Given the description of an element on the screen output the (x, y) to click on. 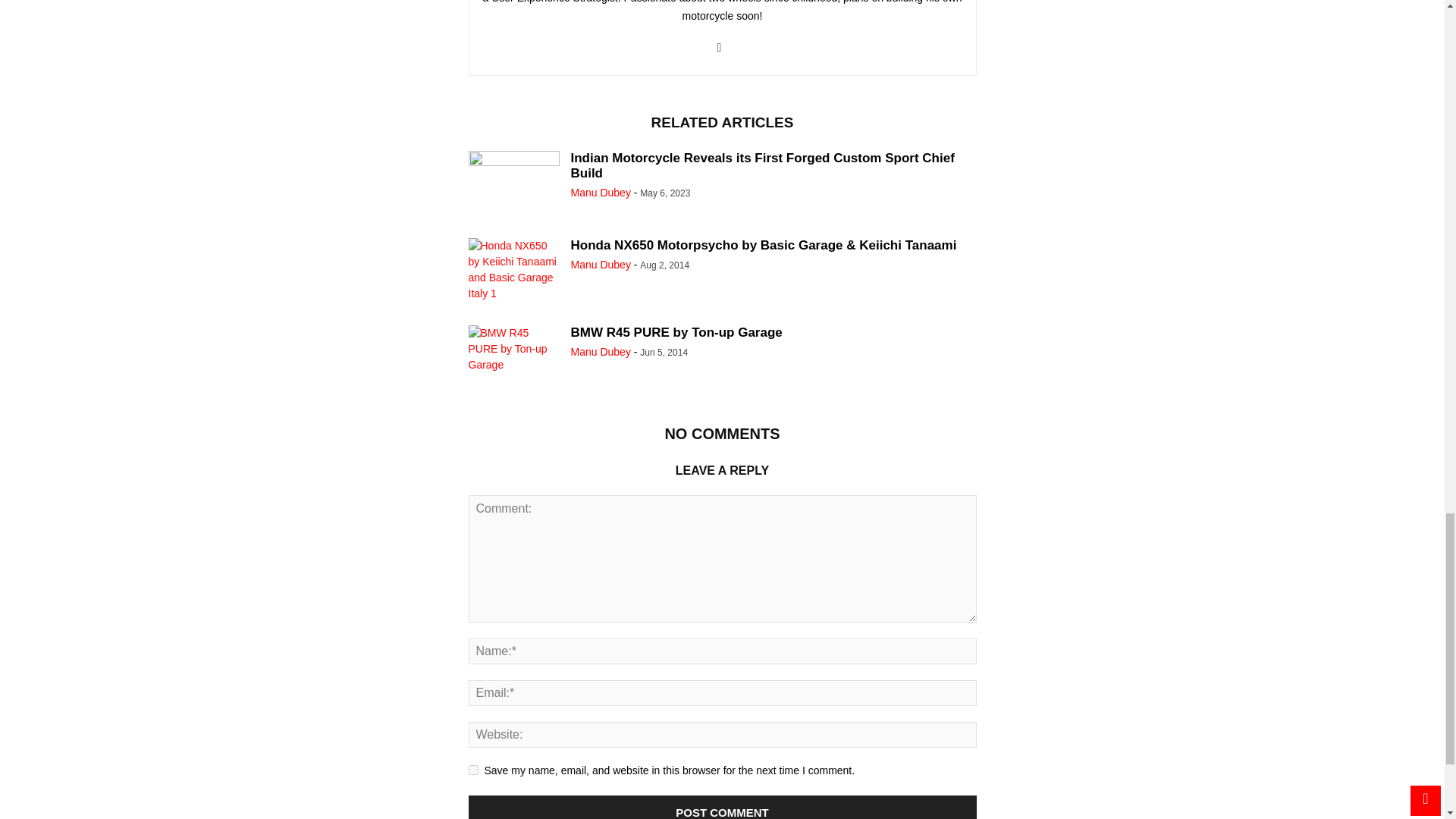
Post Comment (722, 807)
Manu Dubey (600, 264)
Post Comment (722, 807)
yes (473, 769)
BMW R45 PURE by Ton-up Garage (675, 332)
Manu Dubey (600, 192)
BMW R45 PURE by Ton-up Garage (513, 359)
Manu Dubey (600, 351)
Facebook (718, 47)
